Given the description of an element on the screen output the (x, y) to click on. 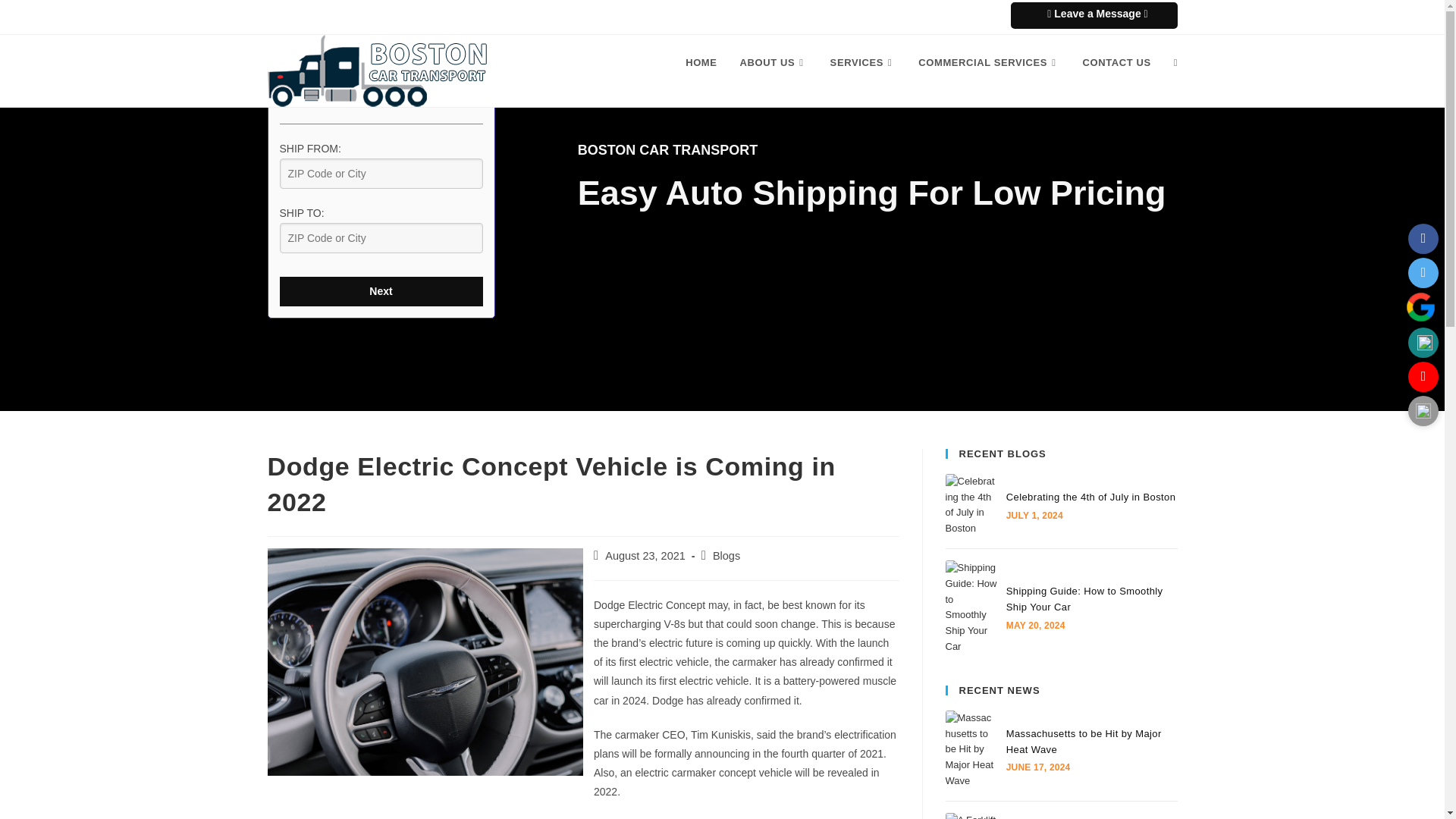
ABOUT US (773, 62)
SERVICES (862, 62)
Enter a location (380, 237)
Google reviews (1420, 306)
CONTACT US (1115, 62)
COMMERCIAL SERVICES (988, 62)
A Forklift Was Hit By a Car in Fenway Park (969, 816)
Enter a location (380, 173)
Next (380, 291)
Blogs (726, 555)
